Given the description of an element on the screen output the (x, y) to click on. 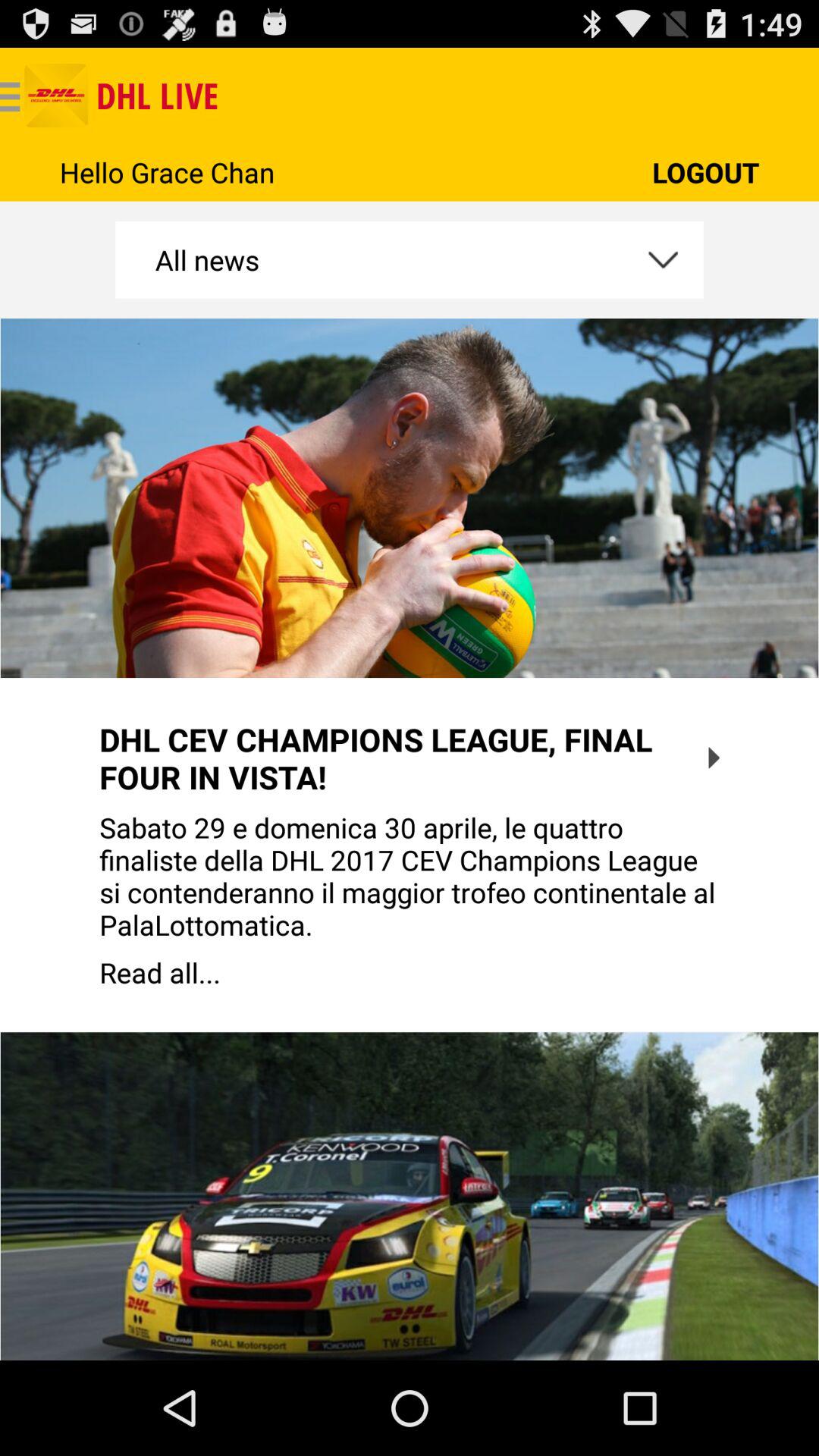
jump to the read all... (409, 972)
